Given the description of an element on the screen output the (x, y) to click on. 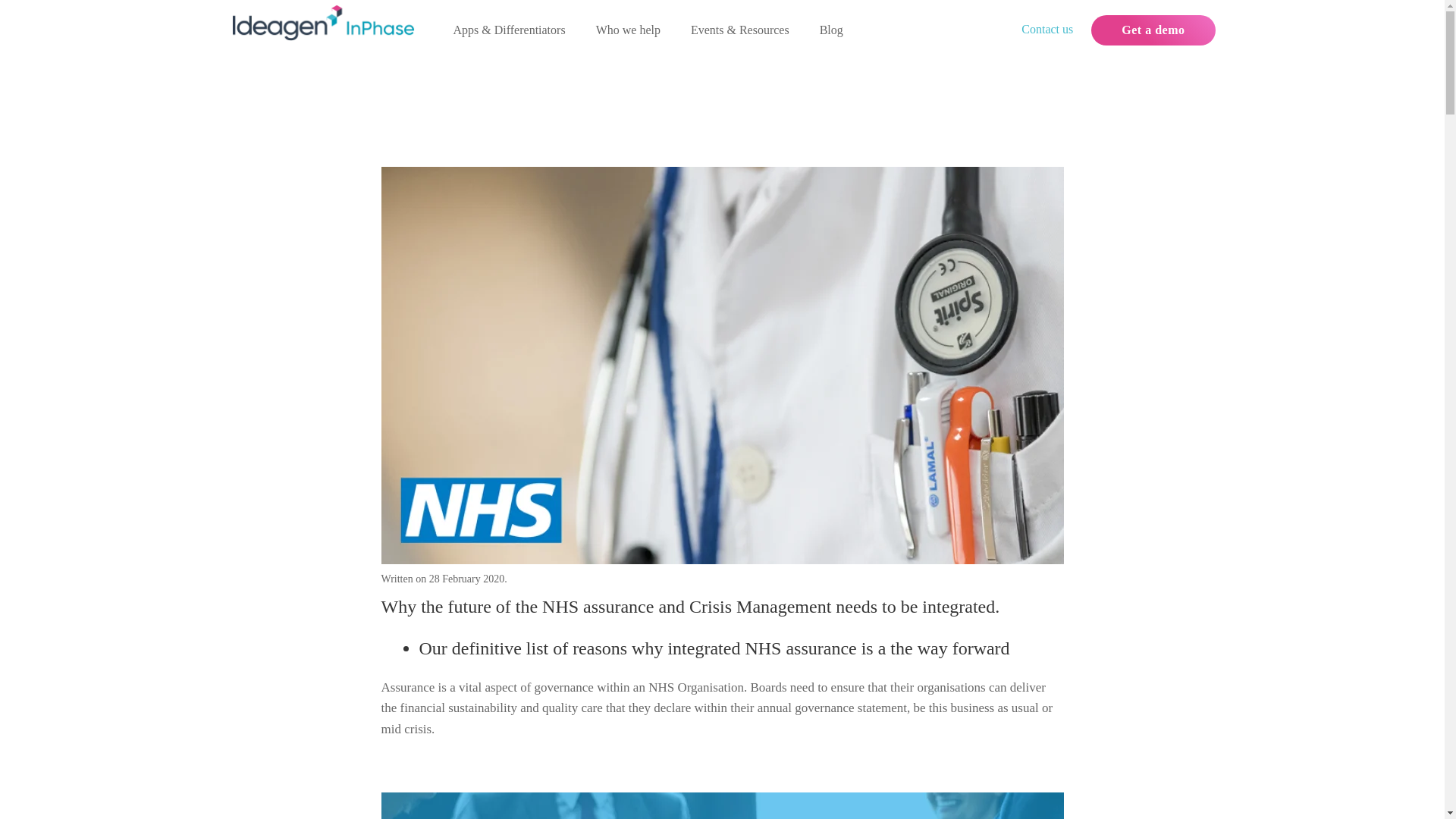
Contact us (1047, 29)
Who we help (627, 30)
Get a demo (1152, 30)
